Given the description of an element on the screen output the (x, y) to click on. 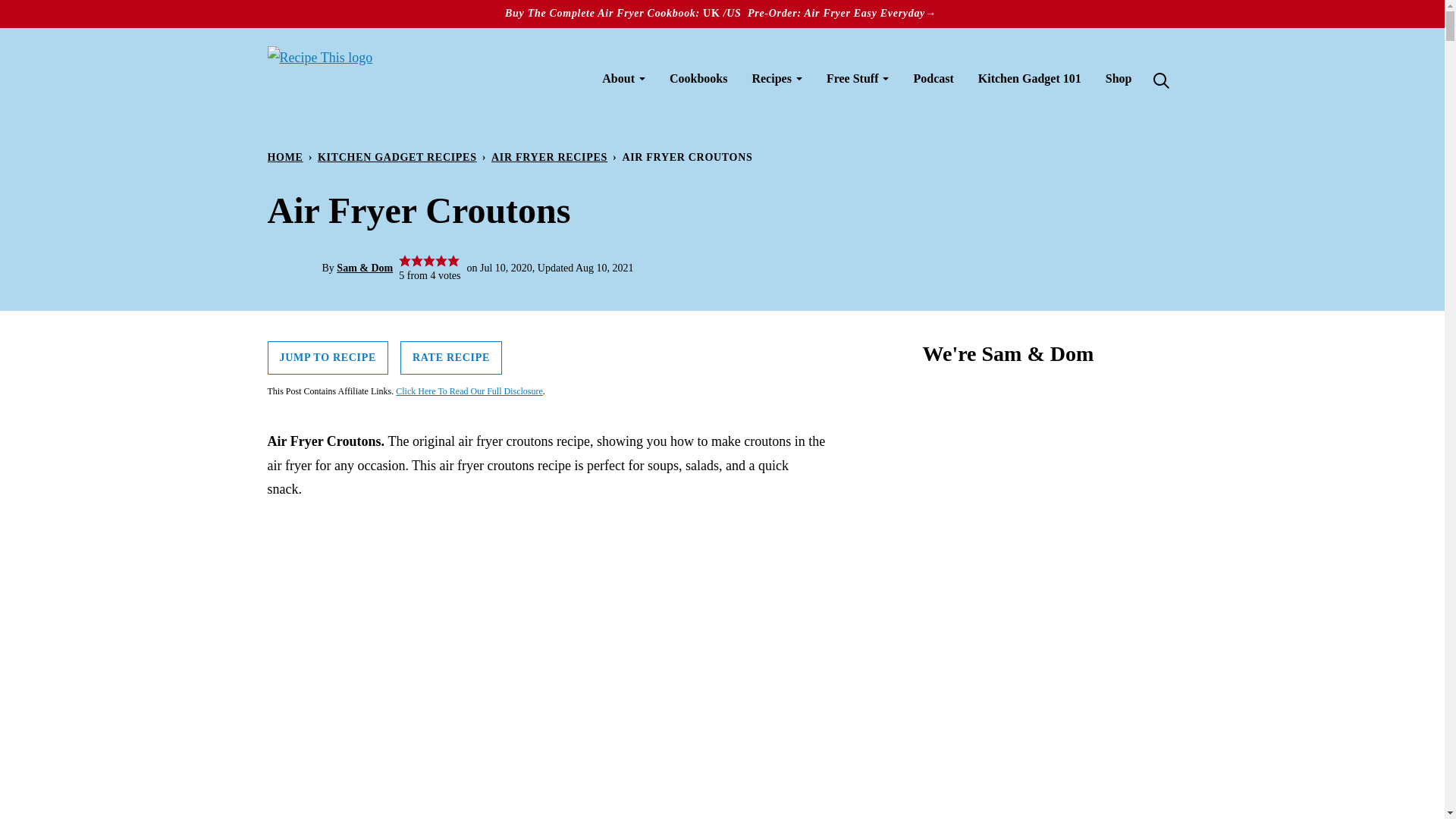
Kitchen Gadget 101 (1029, 78)
About (623, 78)
Free Stuff (857, 78)
Recipes (776, 78)
Podcast (933, 78)
UK (713, 12)
Shop (1118, 78)
Pre-Order: Air Fryer Easy Everyday (834, 12)
Cookbooks (698, 78)
US (733, 12)
Buy The Complete Air Fryer Cookbook: (604, 12)
